Given the description of an element on the screen output the (x, y) to click on. 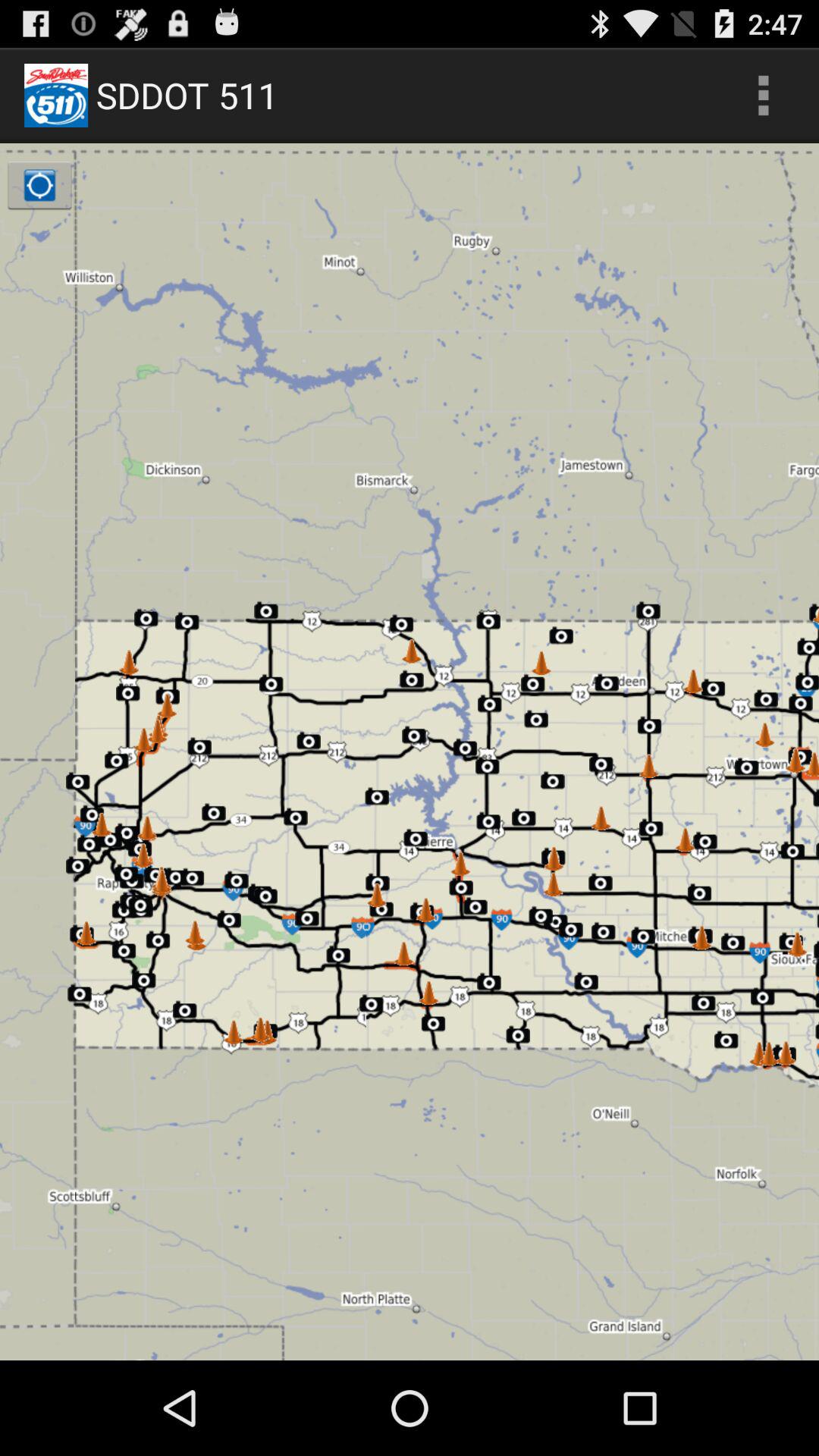
launch item at the top right corner (763, 95)
